Given the description of an element on the screen output the (x, y) to click on. 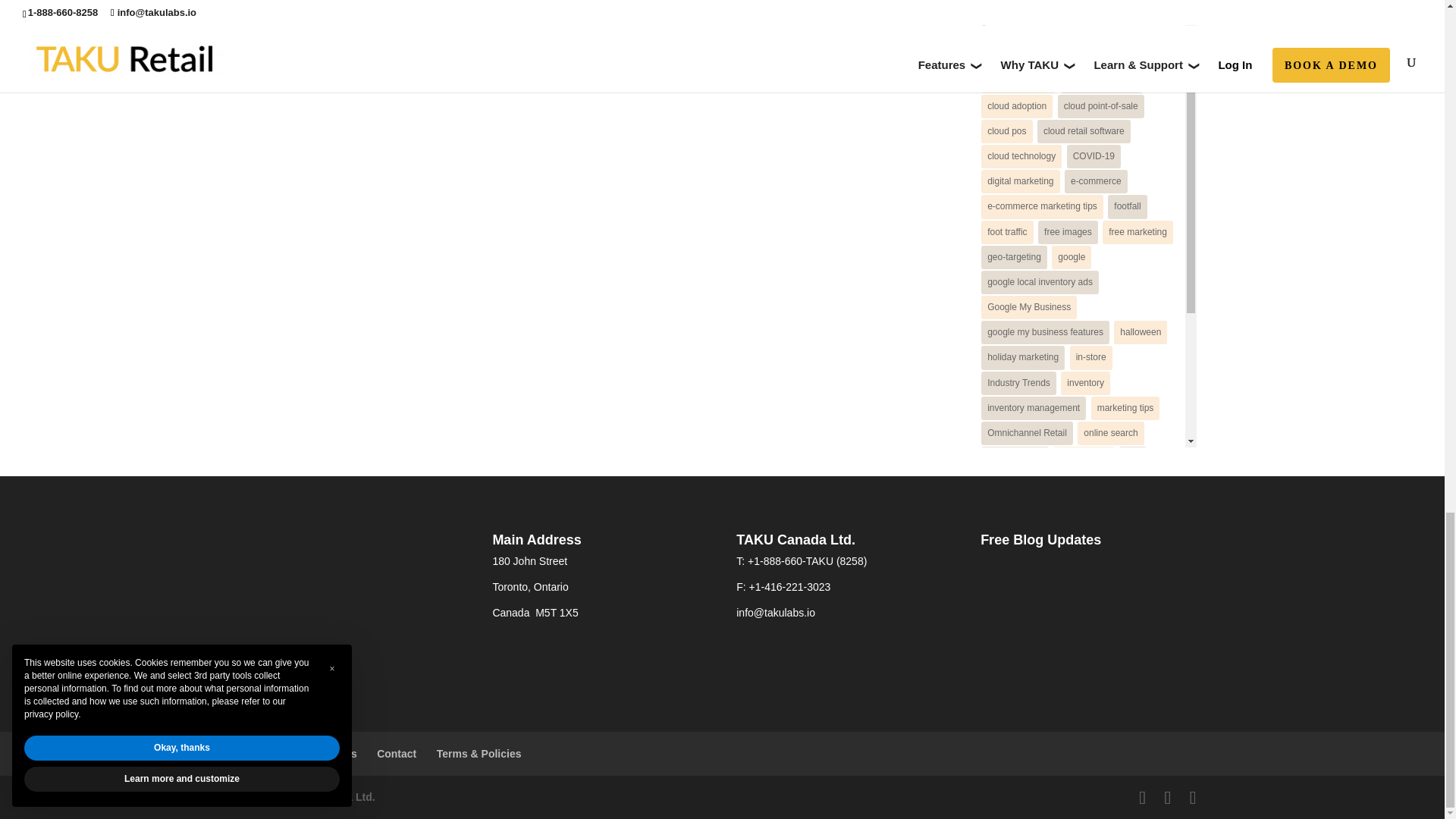
Form 0 (1087, 628)
